Given the description of an element on the screen output the (x, y) to click on. 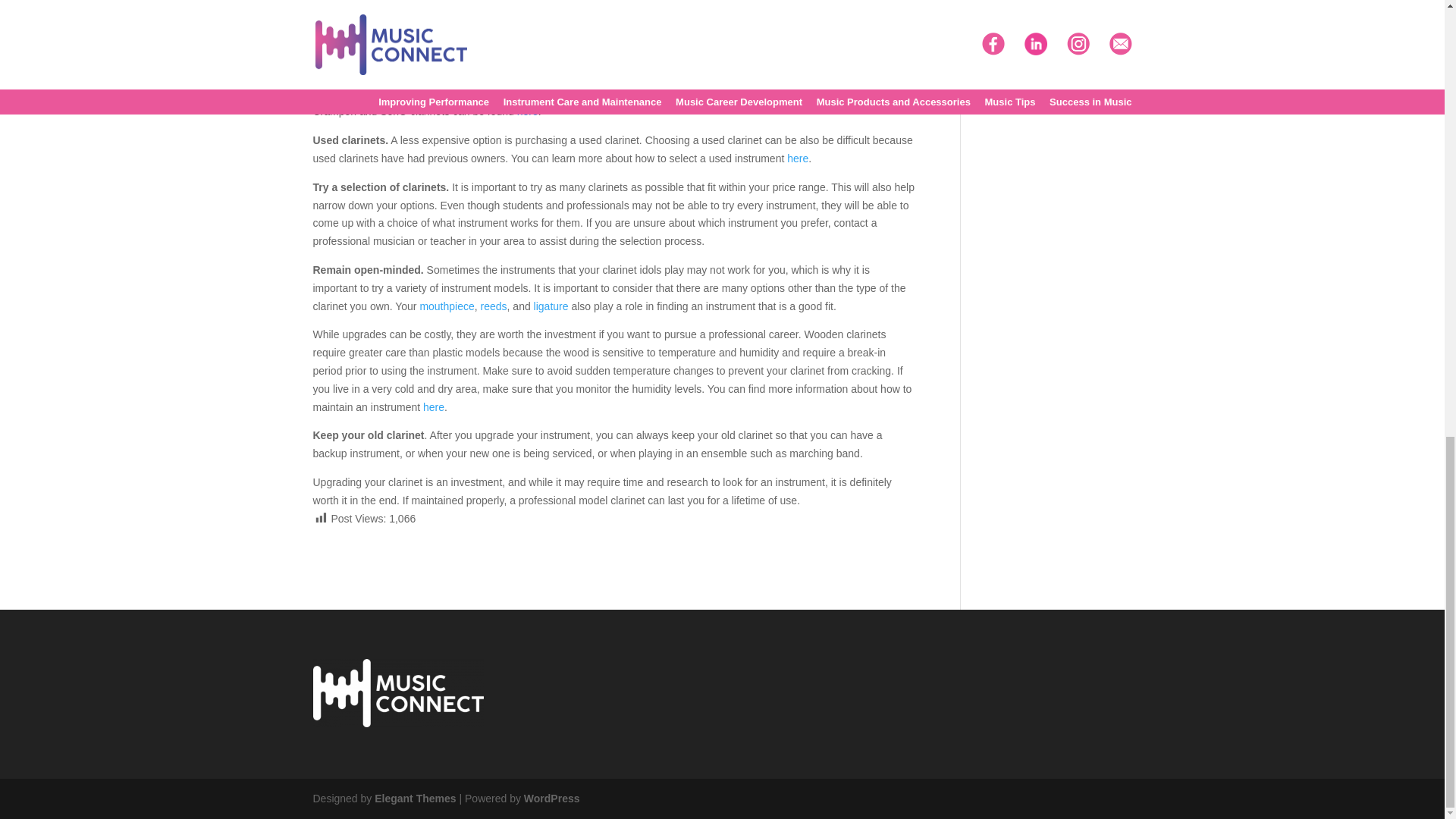
WordPress (551, 798)
Premium WordPress Themes (414, 798)
reeds (493, 306)
here (433, 407)
here (797, 158)
Elegant Themes (414, 798)
ligature (551, 306)
here (527, 111)
mouthpiece (446, 306)
